Given the description of an element on the screen output the (x, y) to click on. 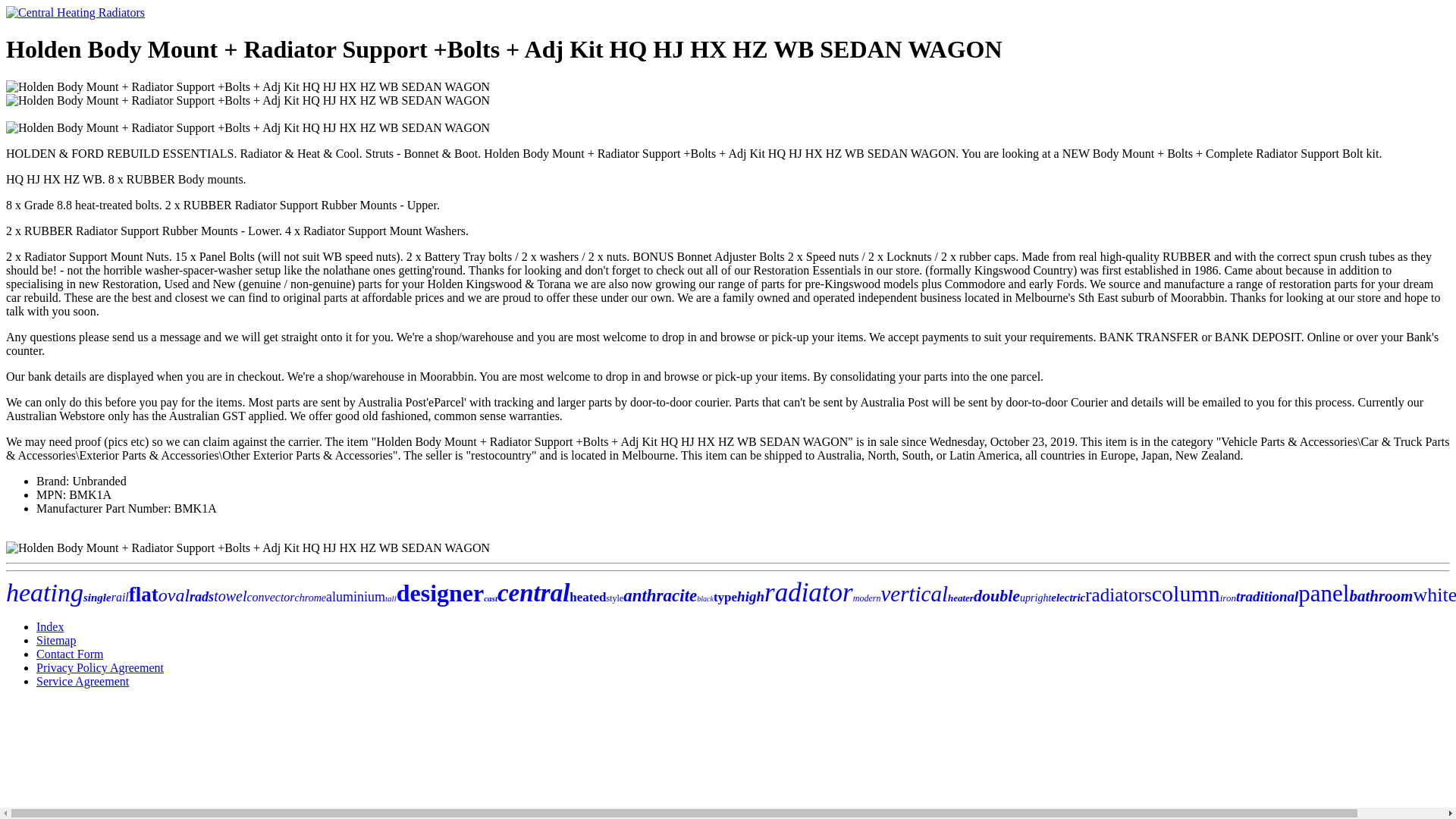
radiator (808, 592)
rail (120, 596)
heated (587, 596)
flat (143, 594)
high (750, 596)
towel (230, 596)
single (97, 597)
modern (866, 597)
style (614, 597)
aluminium (355, 596)
